Given the description of an element on the screen output the (x, y) to click on. 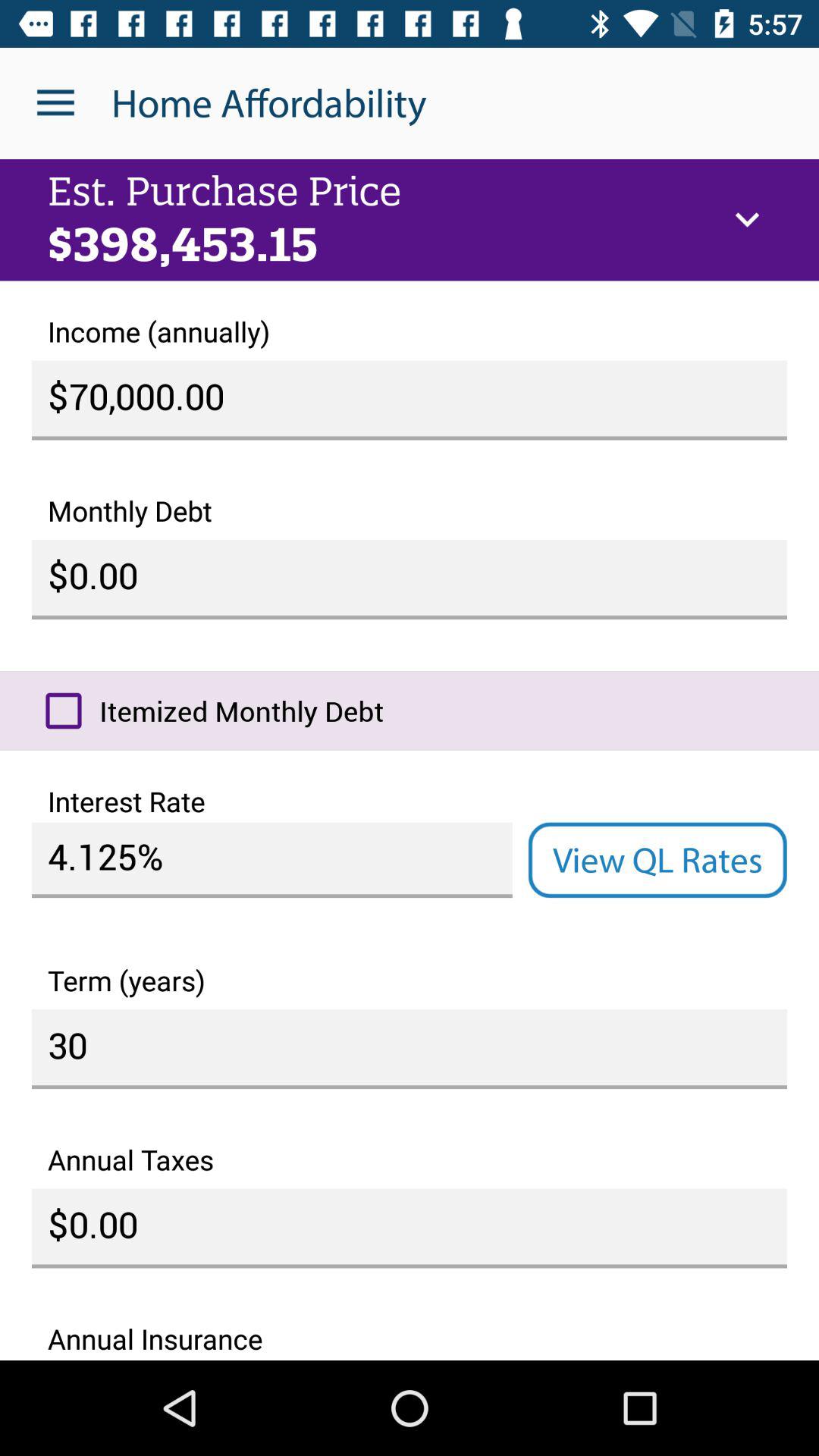
tap icon next to est. purchase price (747, 219)
